Given the description of an element on the screen output the (x, y) to click on. 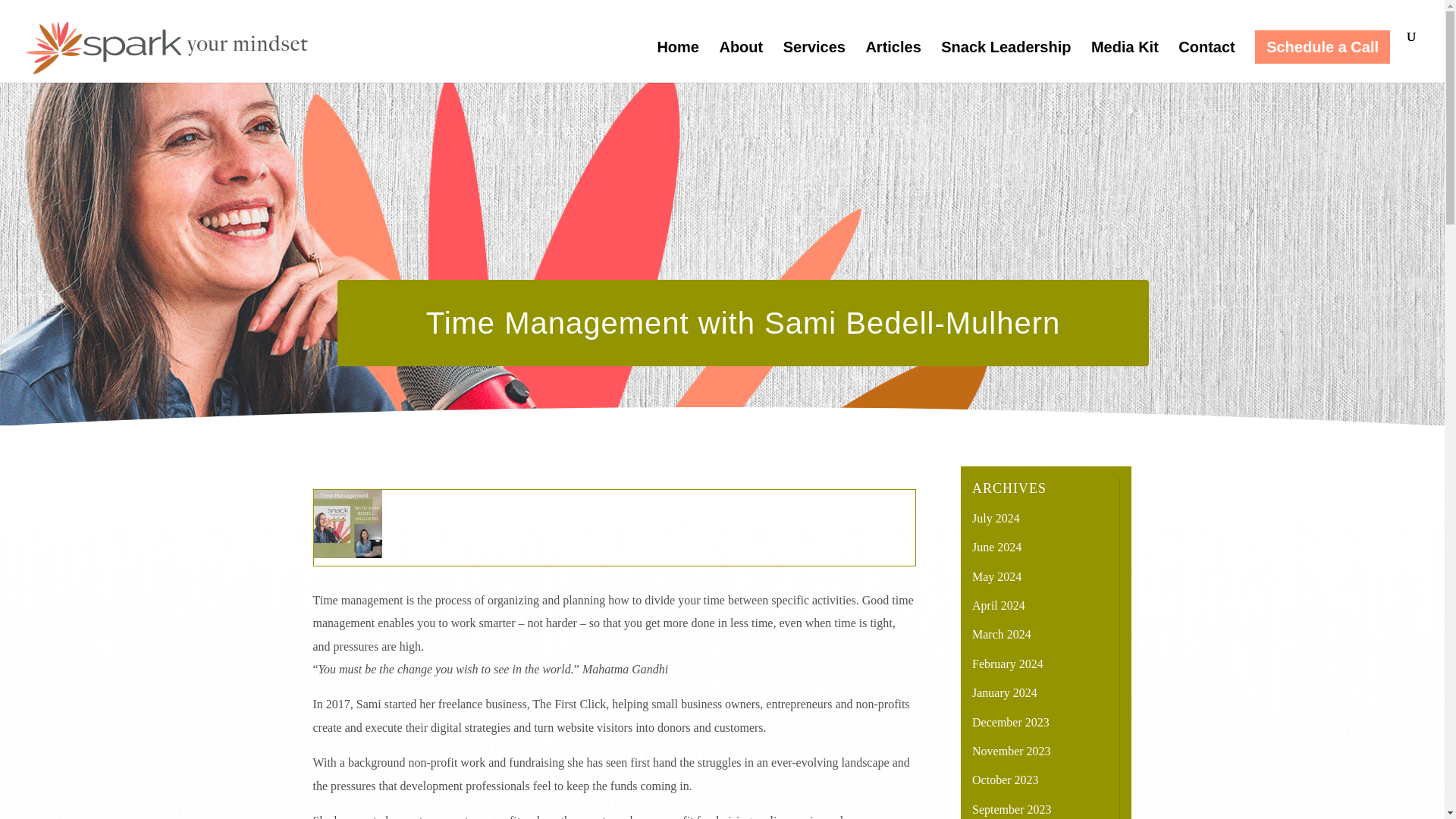
April 2024 (998, 604)
Media Kit (1124, 61)
Libsyn Player (614, 523)
About (740, 61)
May 2024 (997, 576)
November 2023 (1011, 750)
March 2024 (1001, 634)
Articles (892, 61)
June 2024 (997, 546)
Services (814, 61)
January 2024 (1004, 692)
October 2023 (1005, 779)
February 2024 (1007, 663)
Home (677, 61)
July 2024 (996, 517)
